Given the description of an element on the screen output the (x, y) to click on. 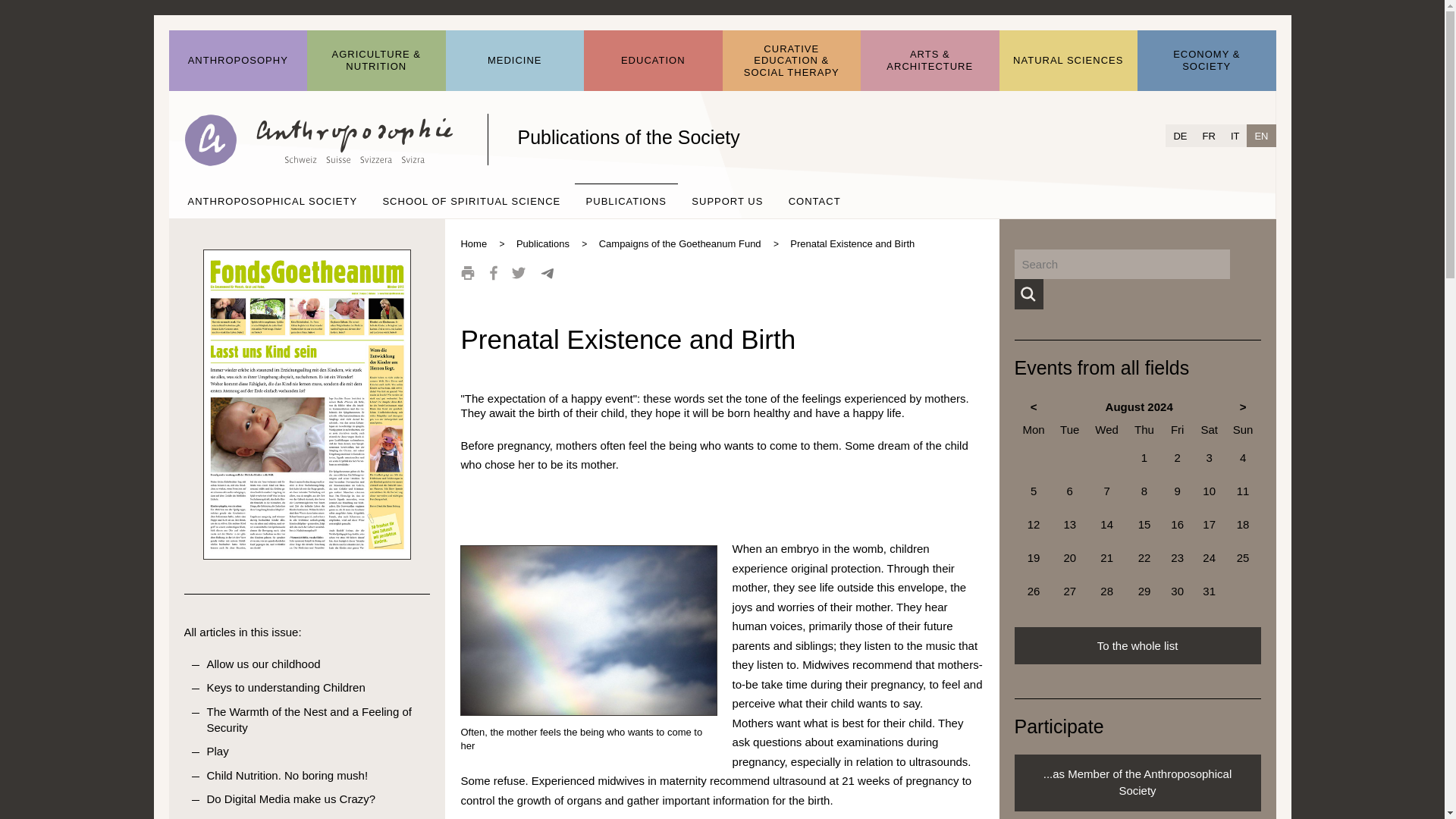
MEDICINE (515, 60)
ANTHROPOSOPHY (237, 60)
Search (1028, 294)
EDUCATION (652, 60)
